Given the description of an element on the screen output the (x, y) to click on. 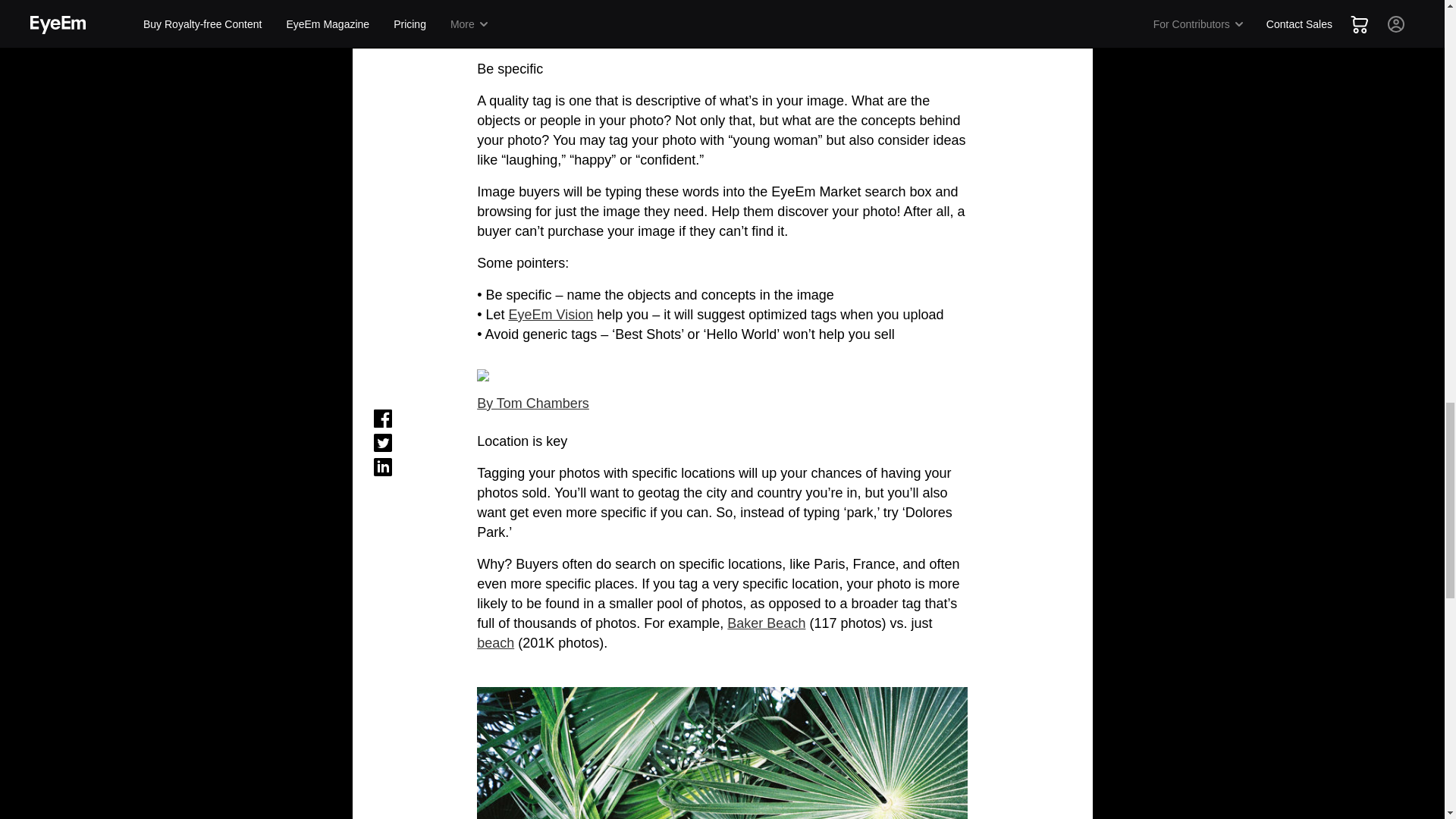
EyeEm Vision (550, 314)
Baker Beach (765, 622)
beach (495, 642)
By Tom Chambers (533, 403)
